Given the description of an element on the screen output the (x, y) to click on. 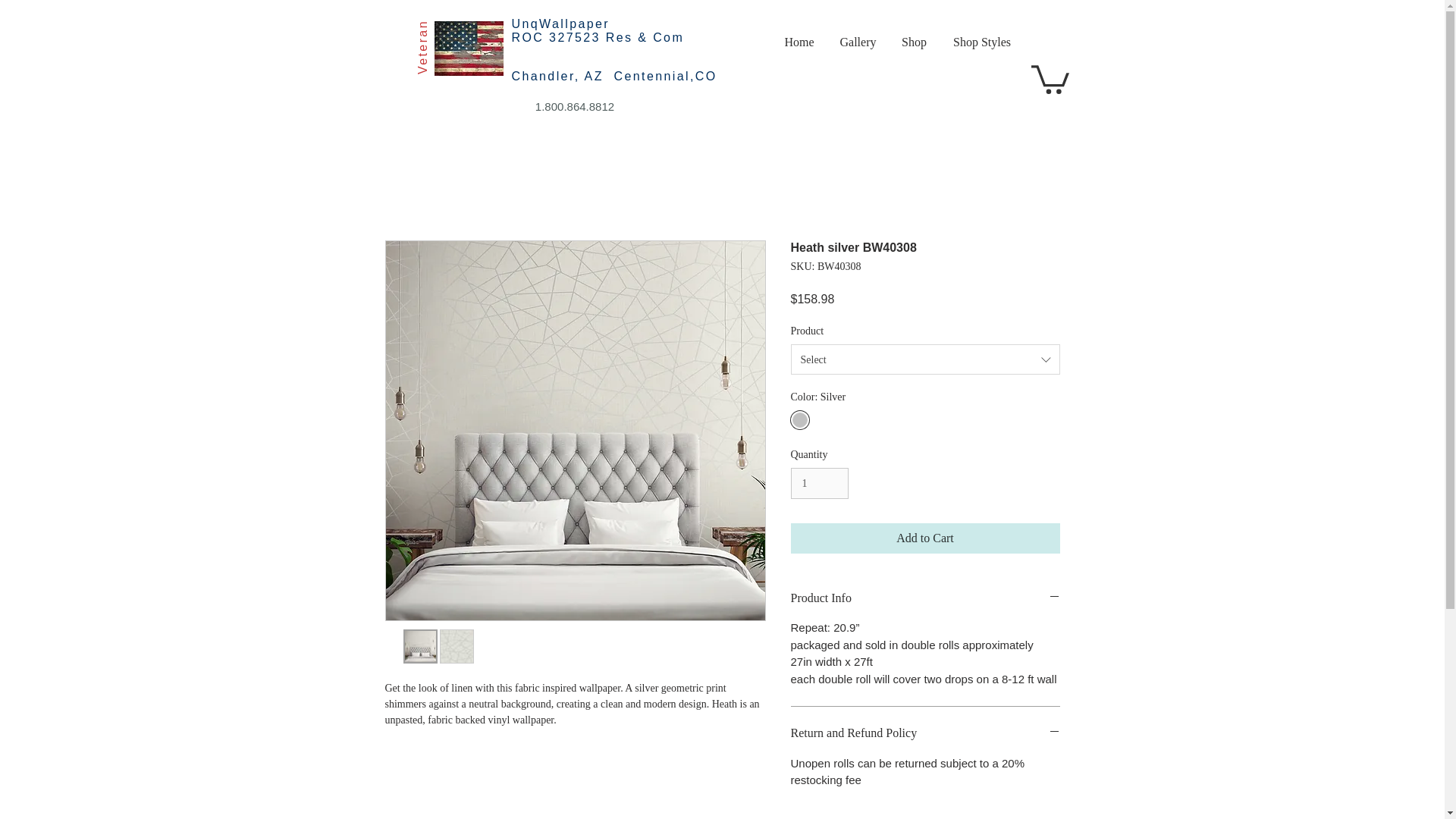
Home (799, 42)
Return and Refund Policy (924, 733)
Product Info (924, 597)
1.800.864.8812 (575, 106)
Shop (913, 42)
1 (818, 482)
Add to Cart (924, 538)
Gallery (857, 42)
Select (924, 358)
